Given the description of an element on the screen output the (x, y) to click on. 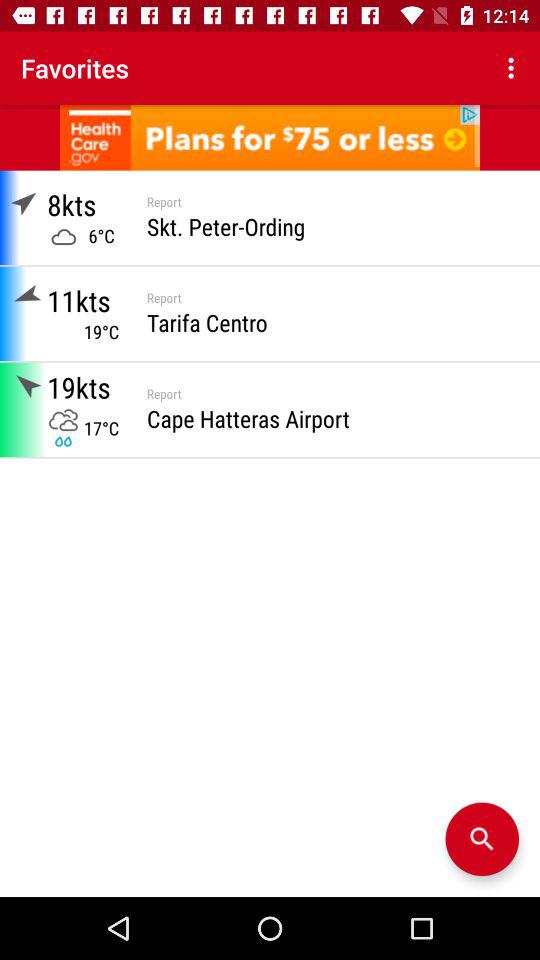
whether (482, 839)
